Given the description of an element on the screen output the (x, y) to click on. 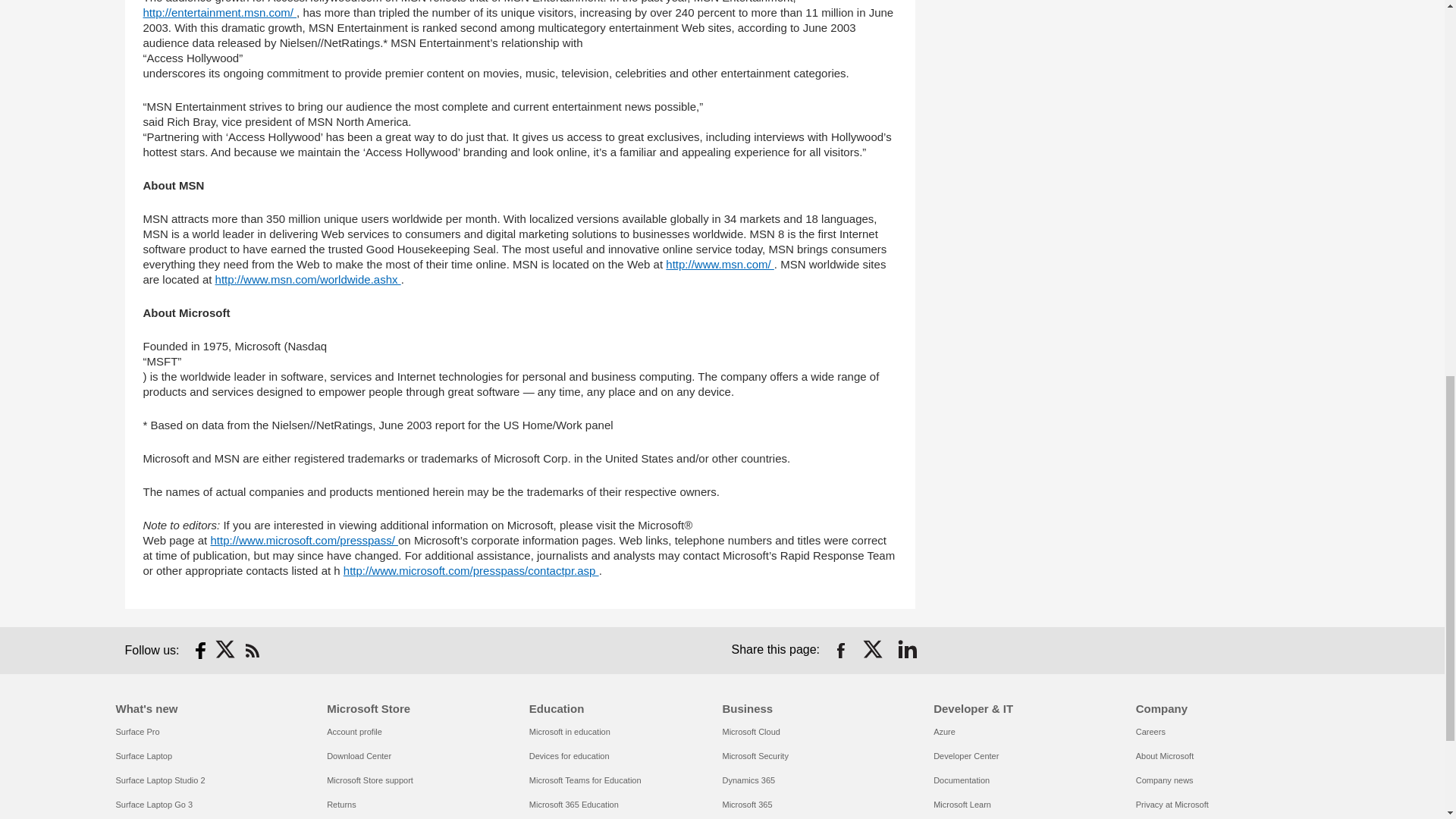
Follow on Twitter (226, 650)
Follow on Facebook (200, 650)
RSS Subscription (252, 650)
Share on Facebook (840, 650)
Share on Twitter (873, 650)
Share on LinkedIn (907, 650)
